Given the description of an element on the screen output the (x, y) to click on. 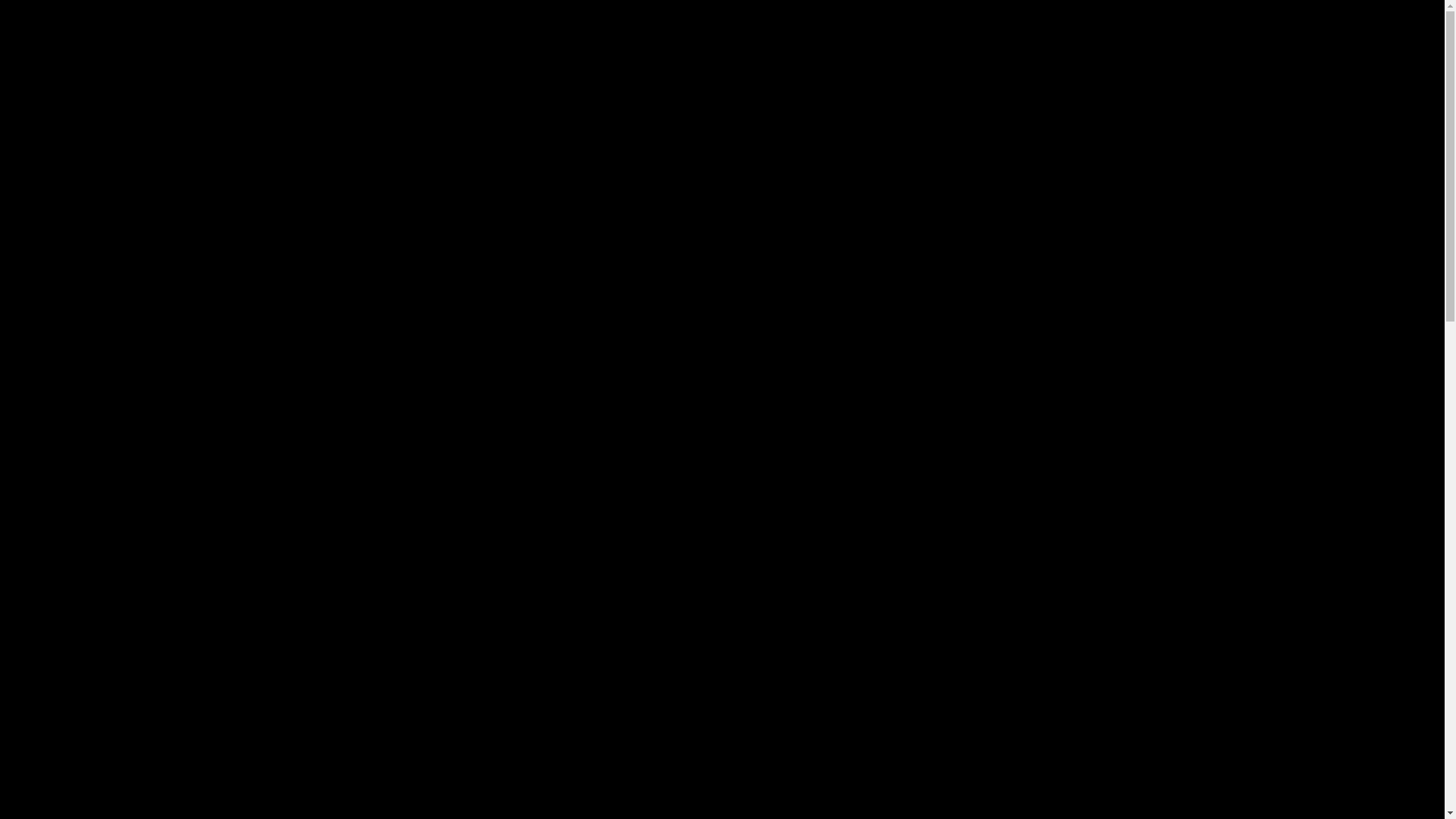
INSCHRIJVEN Element type: text (907, 37)
LOGIN Element type: text (1118, 37)
OVER ONS Element type: text (988, 37)
LESSEN Element type: text (833, 37)
HOME Element type: text (781, 37)
CONTACT Element type: text (1058, 37)
